Given the description of an element on the screen output the (x, y) to click on. 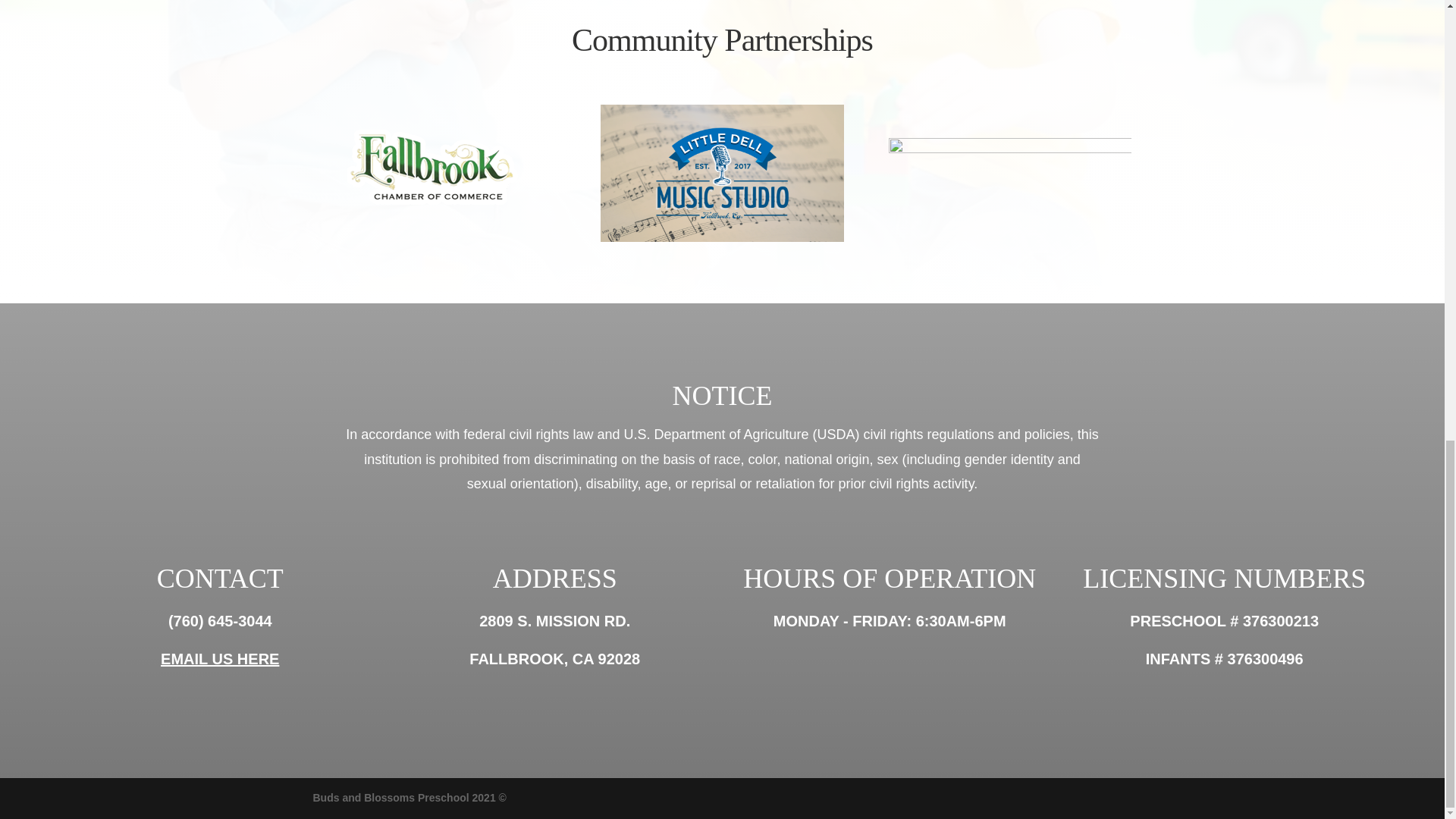
EMAIL US HERE (219, 658)
little-dell-front-cover (721, 172)
FCC (434, 167)
SQDPI (1009, 177)
